Given the description of an element on the screen output the (x, y) to click on. 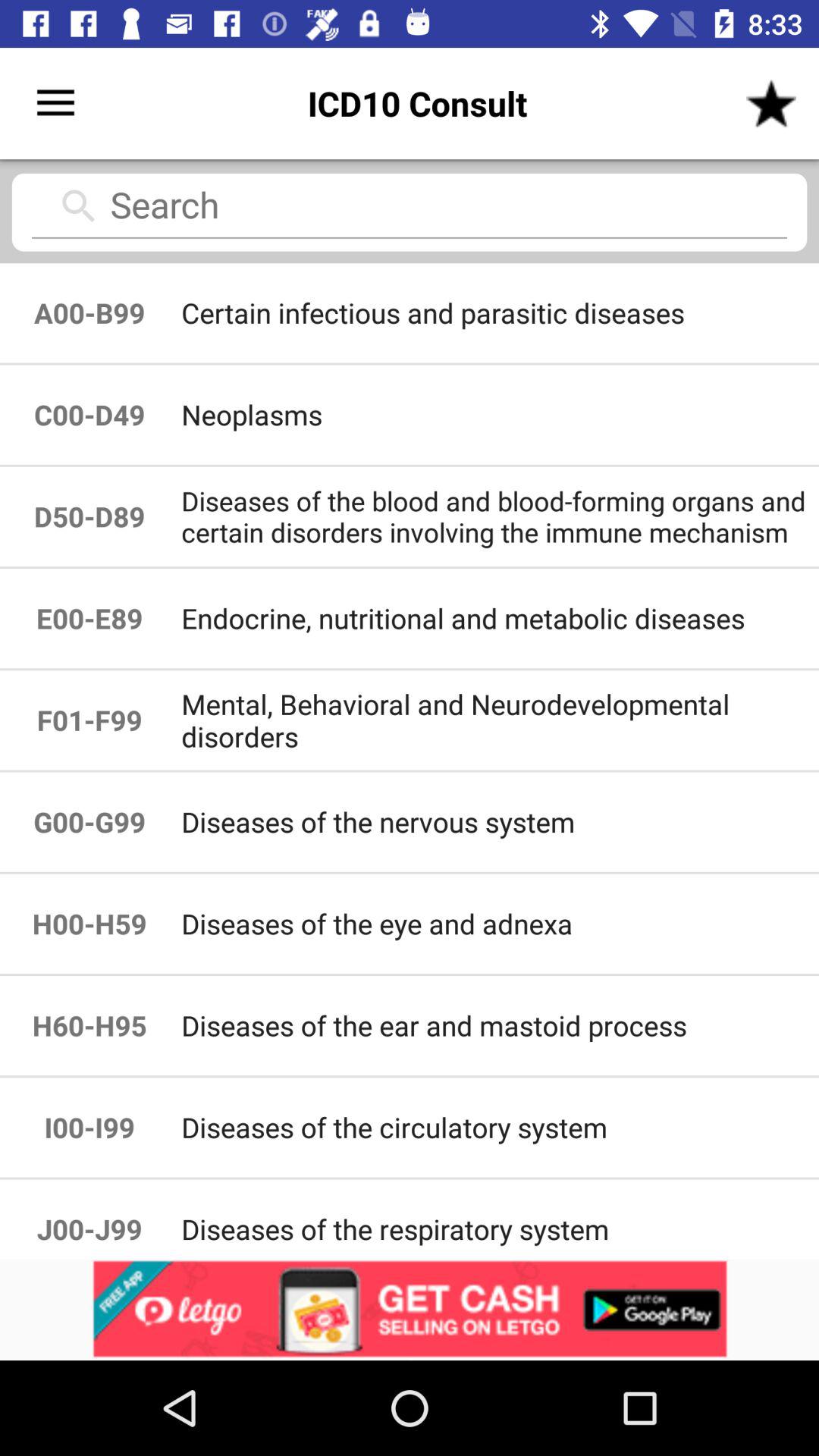
press the item next to a00-b99 icon (499, 414)
